Given the description of an element on the screen output the (x, y) to click on. 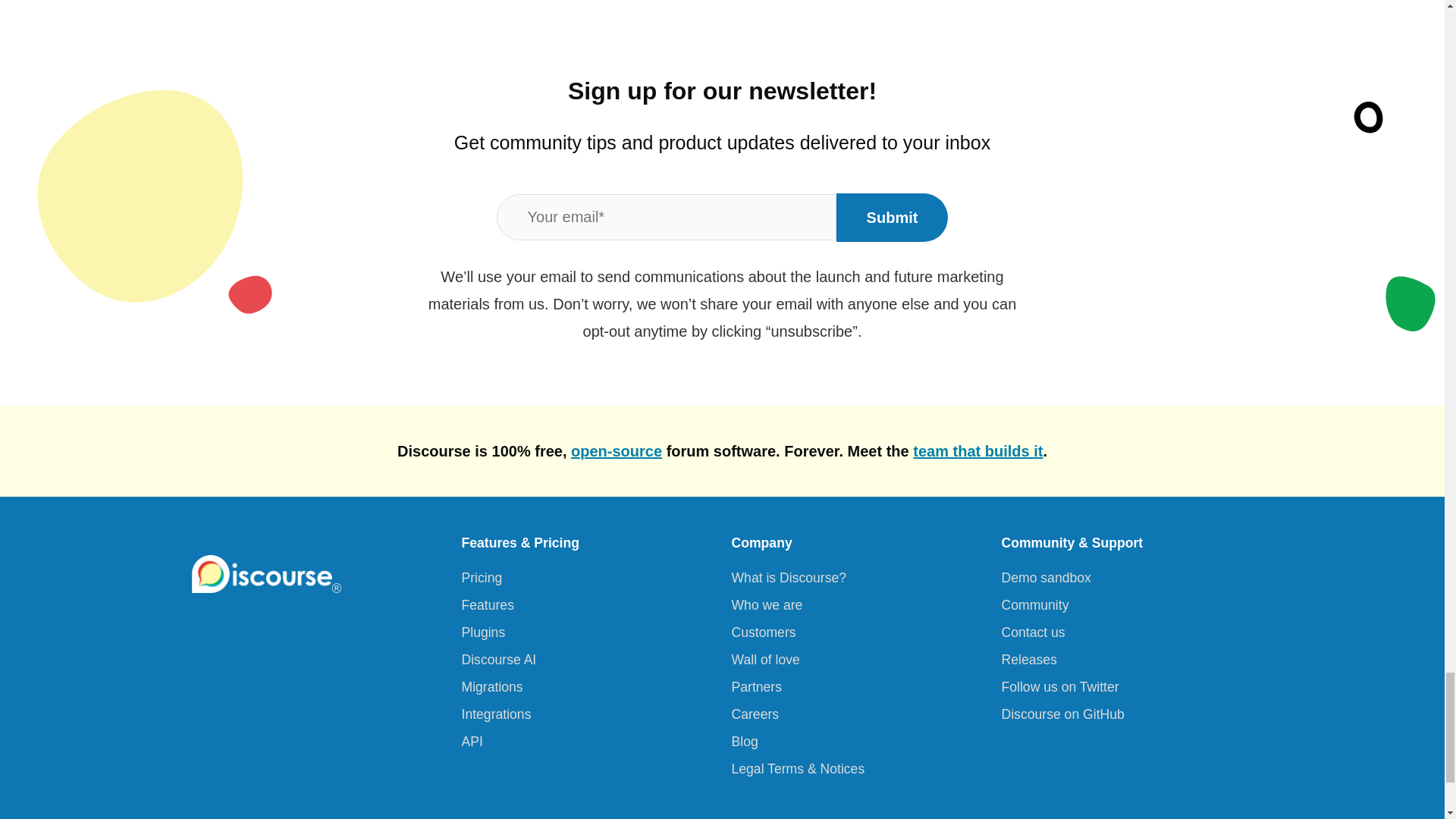
Submit (892, 217)
team that builds it (977, 451)
Submit (892, 217)
open-source (616, 451)
